Given the description of an element on the screen output the (x, y) to click on. 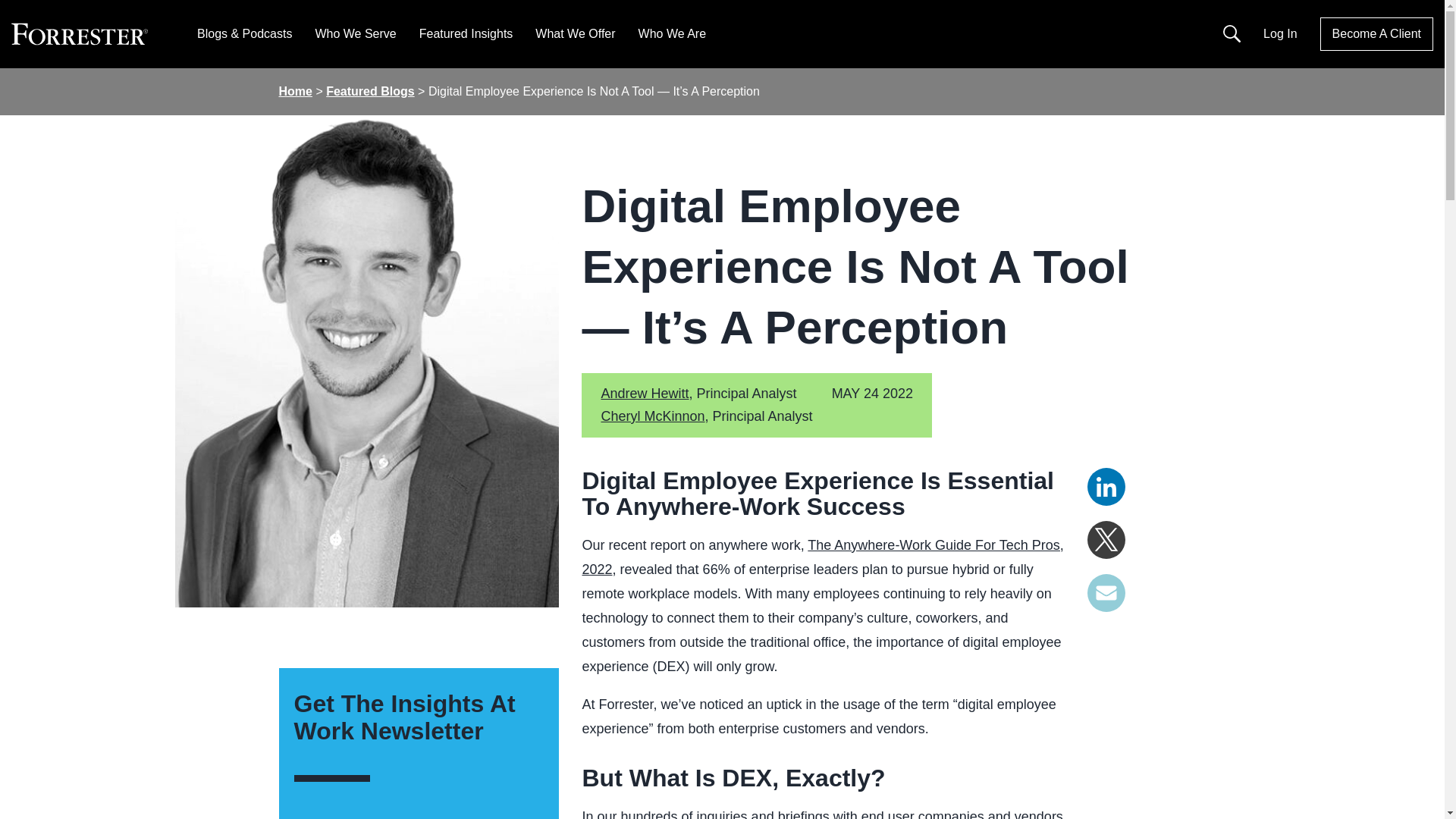
Posts by Andrew Hewitt (643, 392)
Who We Serve (355, 33)
Featured Insights (466, 33)
What We Offer (574, 33)
